Given the description of an element on the screen output the (x, y) to click on. 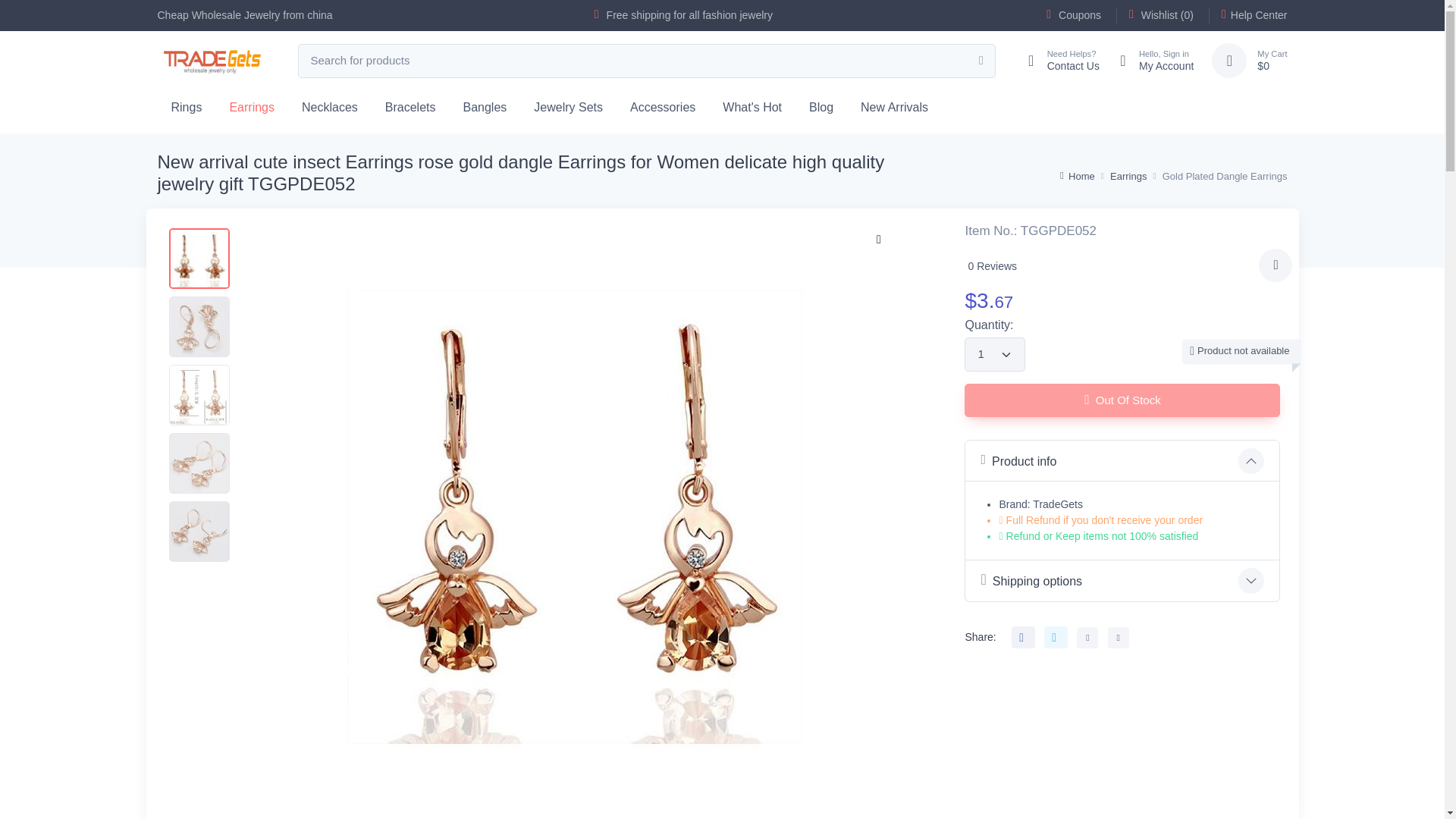
Help Center (1247, 15)
Cheap Wholesale Jewelry (219, 15)
Coupons (1073, 15)
contact us (1056, 60)
Help (1247, 15)
TradeGets (212, 60)
my account (1149, 60)
TradeGets (212, 60)
Earrings (251, 106)
Rings (186, 106)
